Given the description of an element on the screen output the (x, y) to click on. 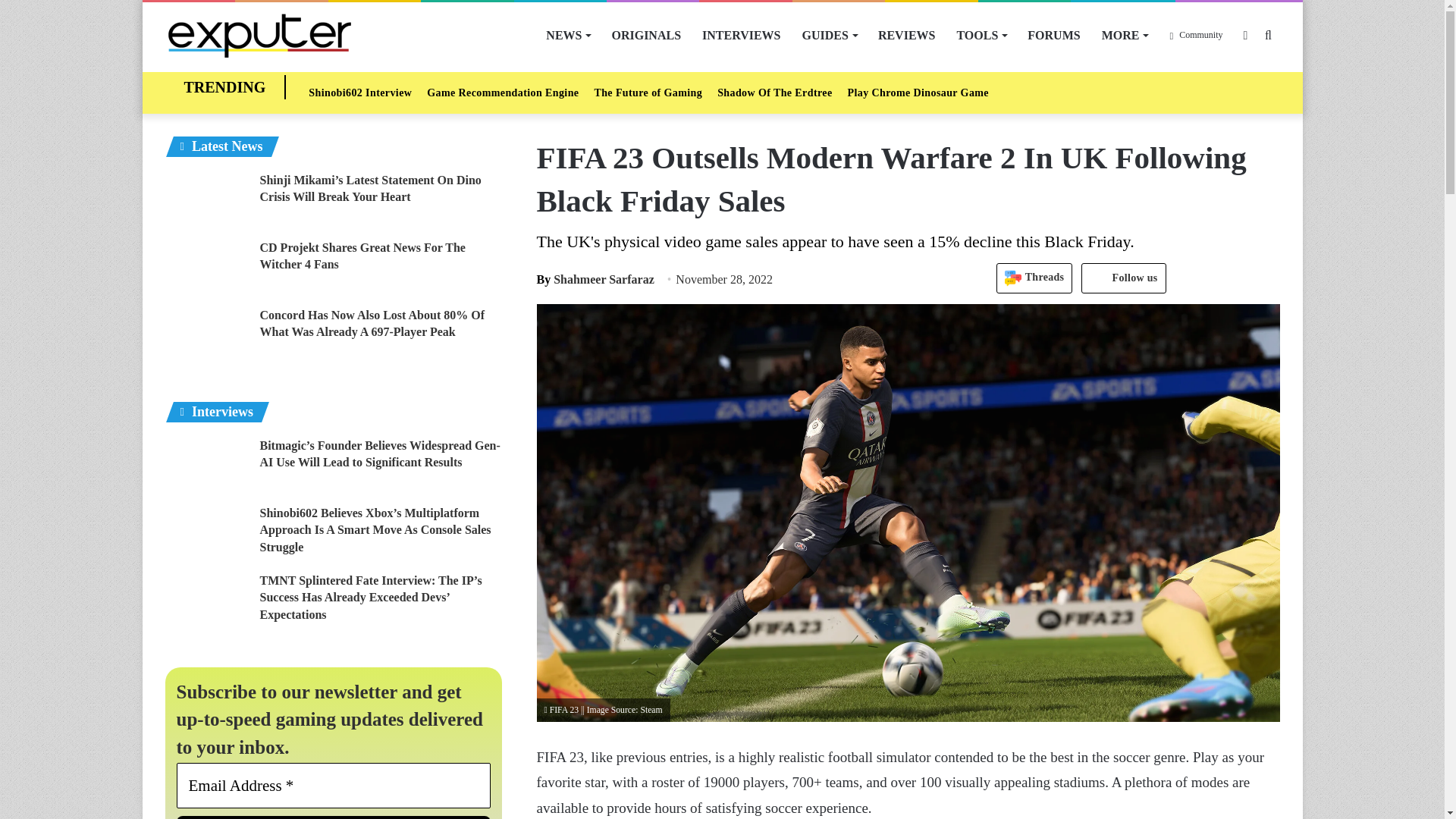
TOOLS (980, 35)
ORIGINALS (645, 35)
Shahmeer Sarfaraz (595, 278)
FORUMS (1053, 35)
Email Address (333, 785)
REVIEWS (906, 35)
INTERVIEWS (740, 35)
NEWS (567, 35)
MORE (1124, 35)
